Given the description of an element on the screen output the (x, y) to click on. 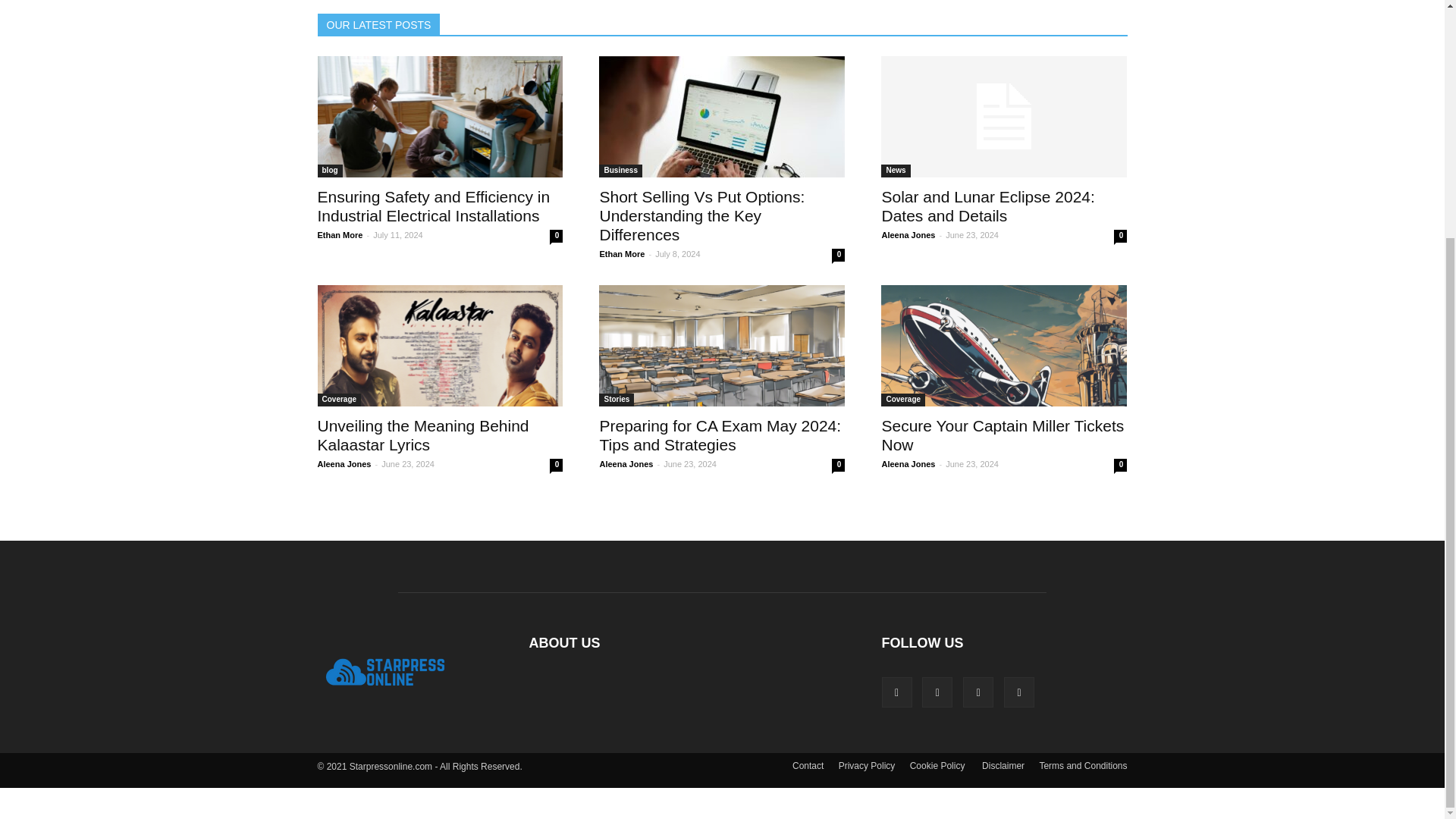
Solar and Lunar Eclipse 2024: Dates and Details (1003, 116)
Unveiling the Meaning Behind Kalaastar Lyrics (422, 434)
Solar and Lunar Eclipse 2024: Dates and Details (987, 206)
Unveiling the Meaning Behind Kalaastar Lyrics (439, 345)
